Given the description of an element on the screen output the (x, y) to click on. 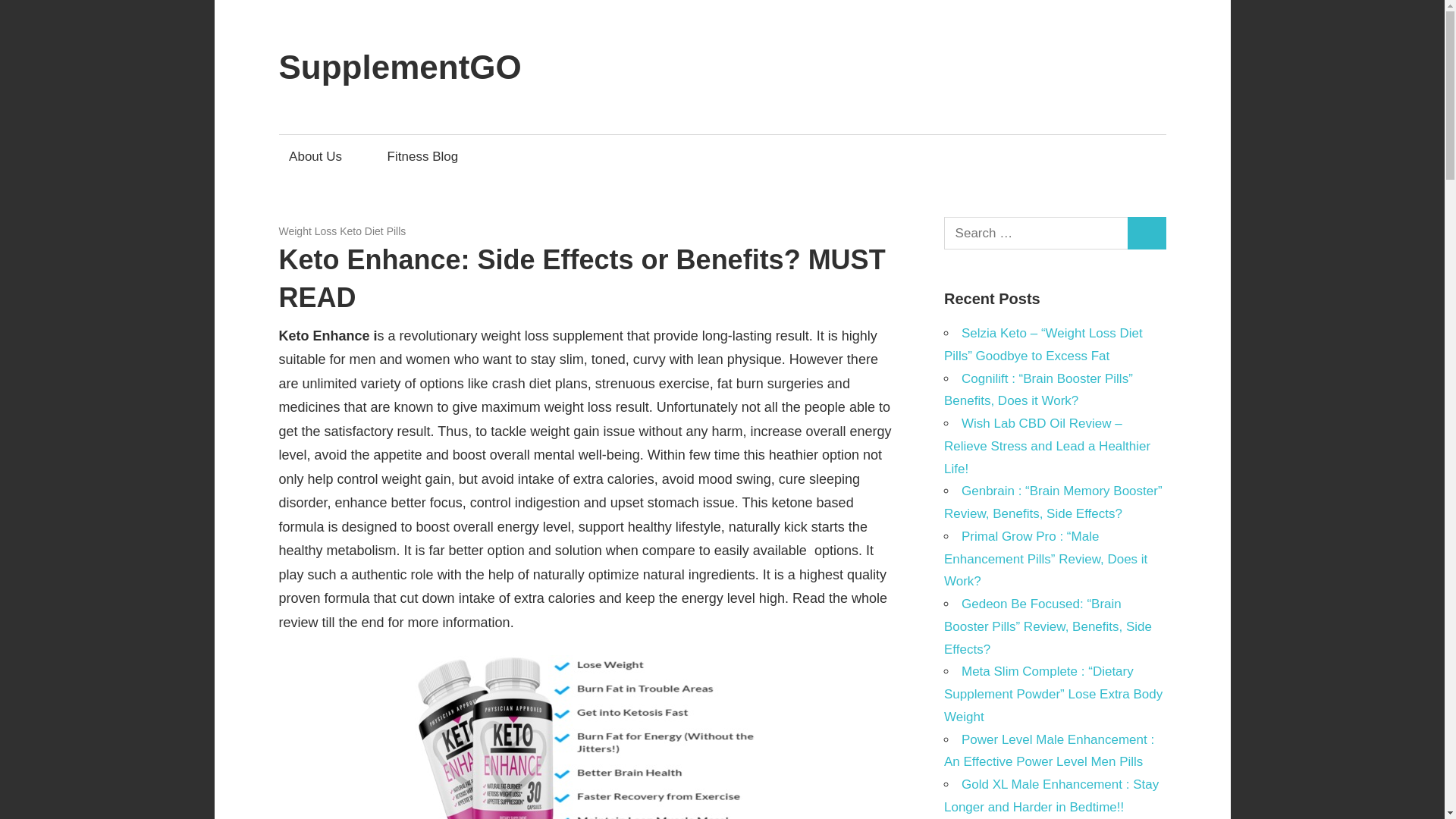
Search for: (1035, 233)
February 4, 2020 (319, 231)
Weight Loss Keto Diet Pills (342, 231)
About Us (320, 156)
9:00 am (319, 231)
SupplementGO (400, 66)
Search (1146, 233)
Keto Enhance order (584, 737)
Fitness Blog (422, 156)
